Given the description of an element on the screen output the (x, y) to click on. 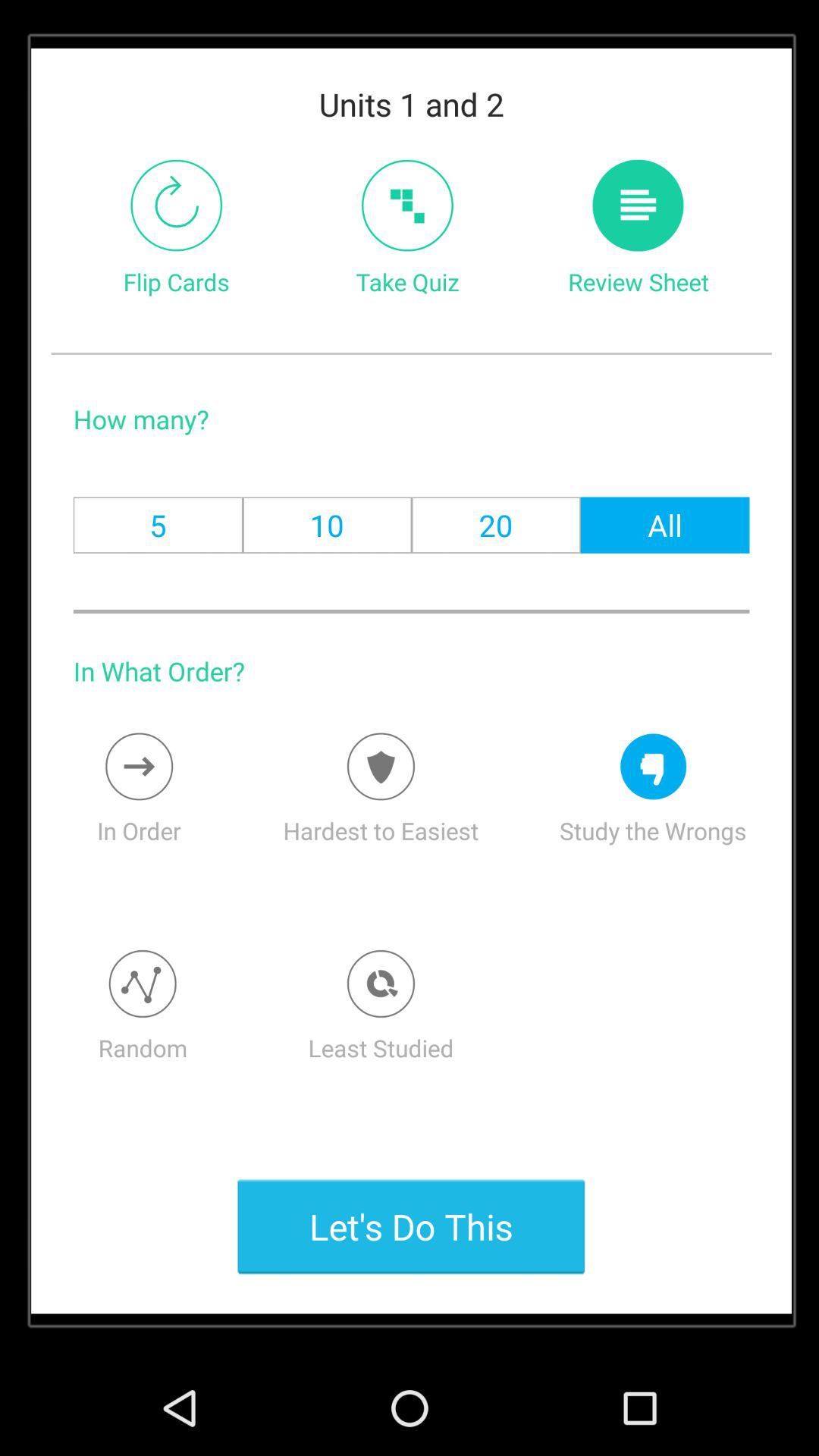
open the item below the units 1 and (407, 205)
